Given the description of an element on the screen output the (x, y) to click on. 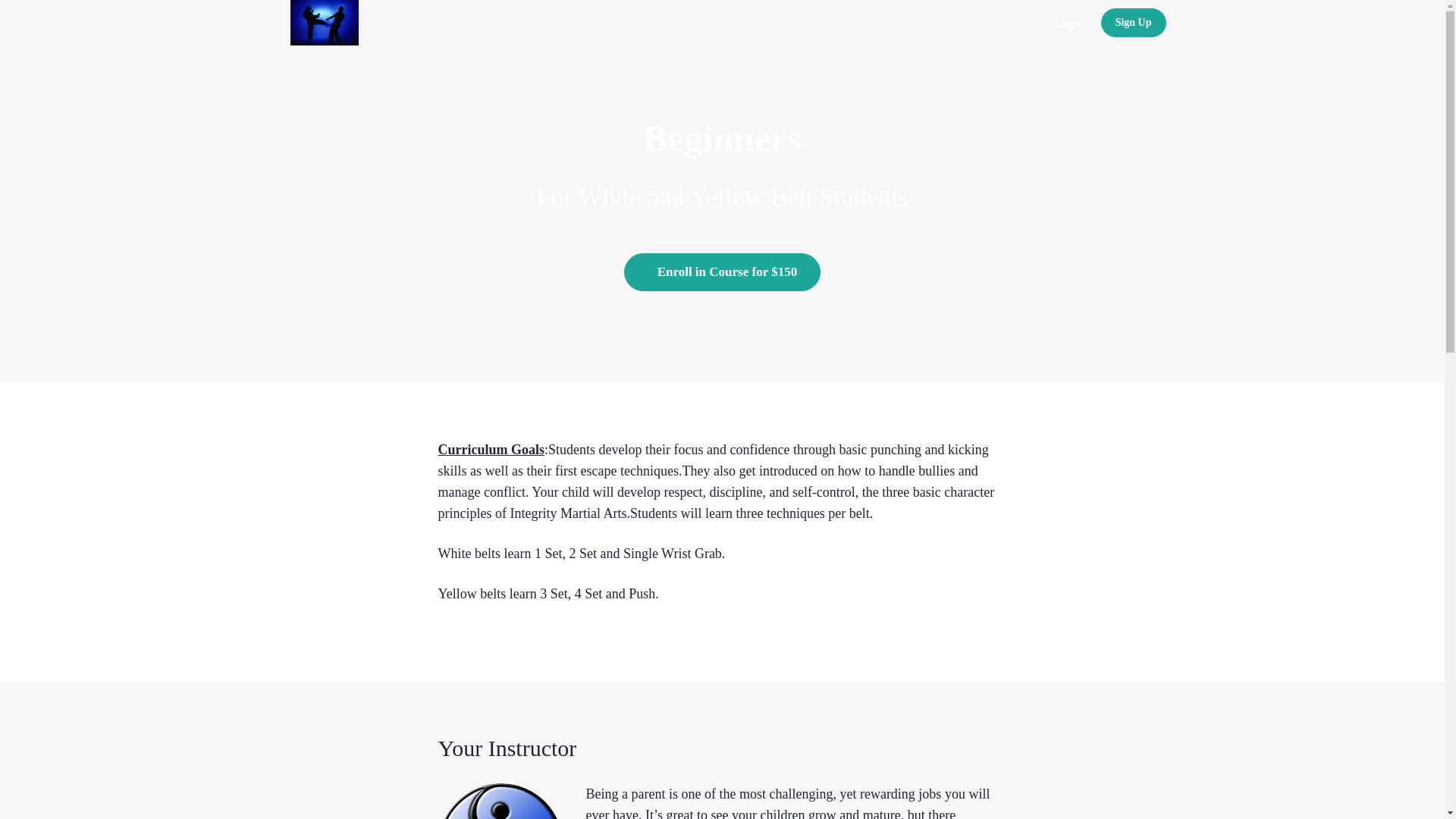
Login (1068, 22)
Sign Up (1133, 22)
